Given the description of an element on the screen output the (x, y) to click on. 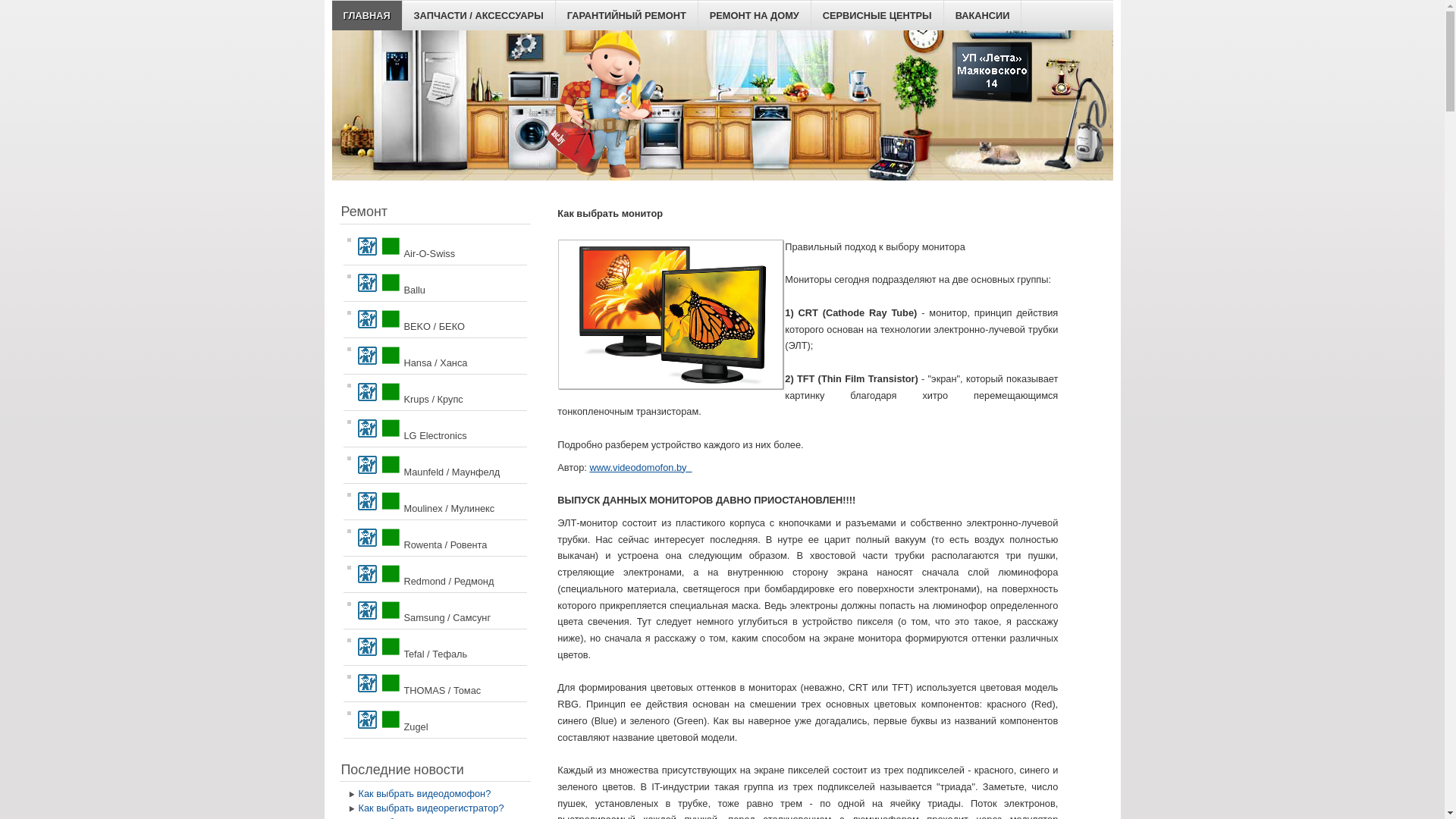
Ballu Element type: text (434, 283)
www.videodomofon.by   Element type: text (640, 467)
Zugel Element type: text (434, 719)
LG Electronics Element type: text (434, 428)
Air-O-Swiss Element type: text (434, 246)
